Given the description of an element on the screen output the (x, y) to click on. 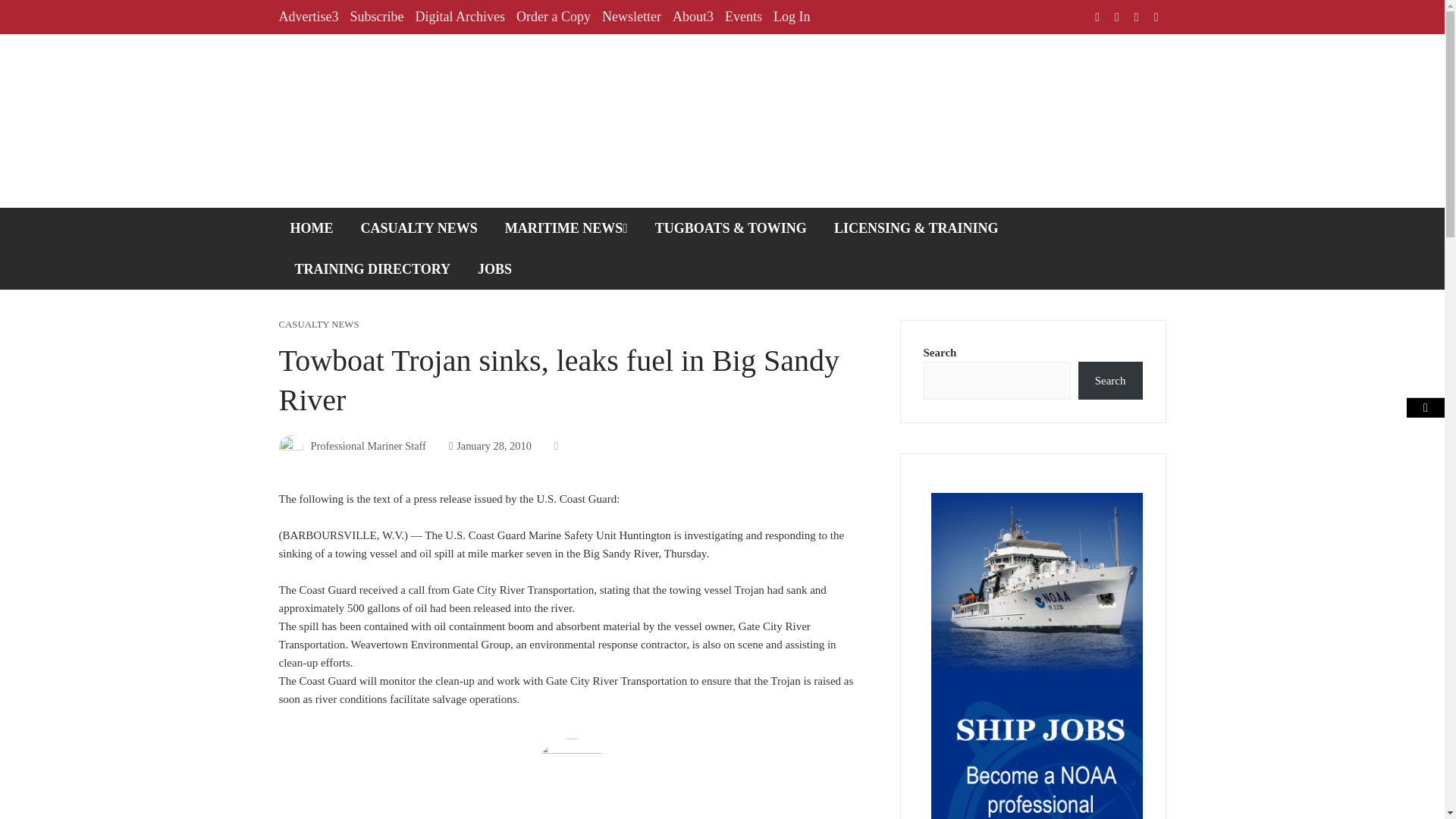
CASUALTY NEWS (418, 228)
Log In (791, 17)
Subscribe (376, 17)
About (692, 17)
CASUALTY NEWS (319, 325)
TRAINING DIRECTORY (373, 268)
JOBS (493, 268)
HOME (312, 228)
Newsletter (631, 17)
Digital Archives (458, 17)
Advertise (309, 17)
MARITIME NEWS (566, 228)
Events (743, 17)
Order a Copy (553, 17)
